Given the description of an element on the screen output the (x, y) to click on. 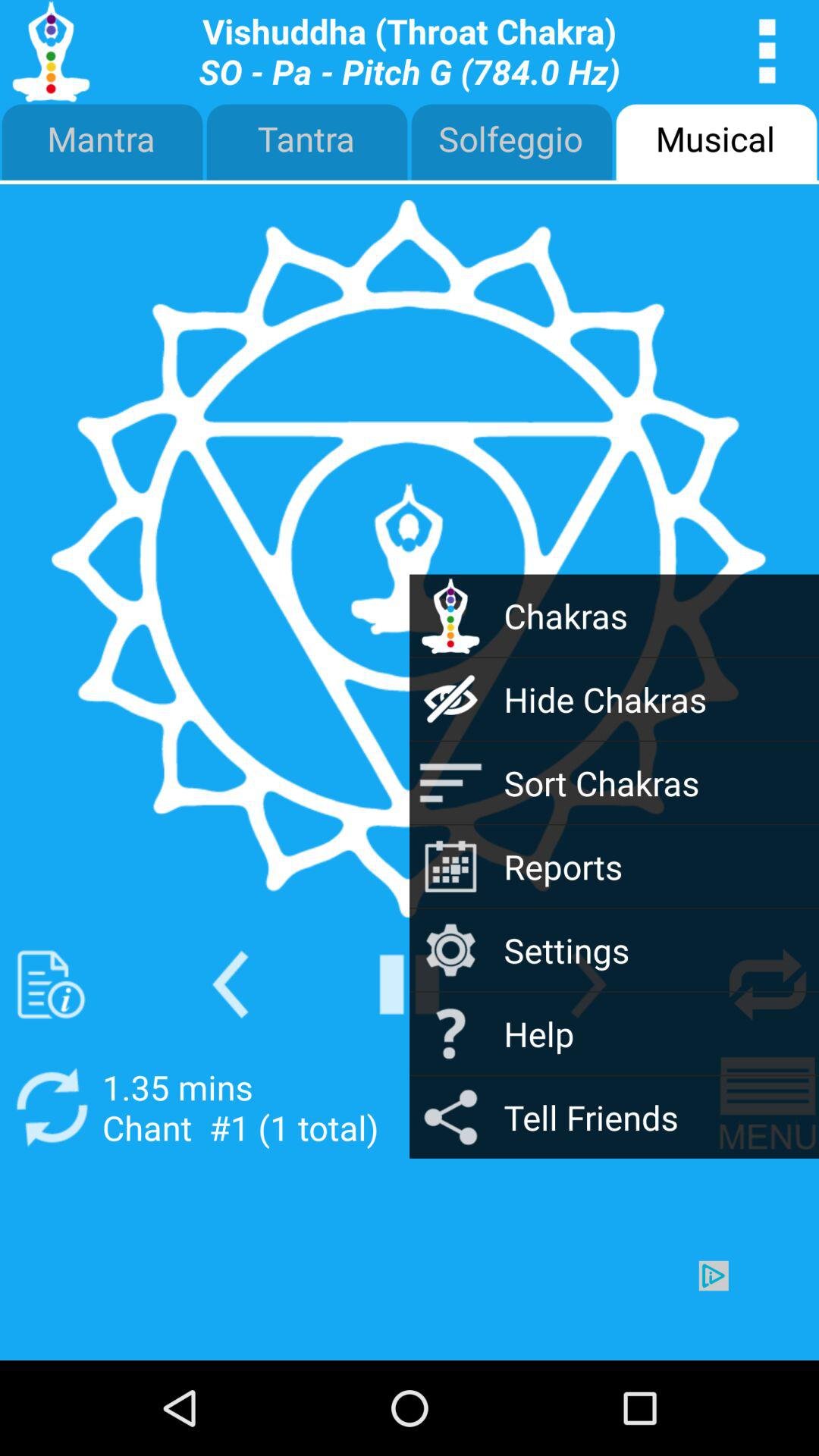
menu (767, 1107)
